Given the description of an element on the screen output the (x, y) to click on. 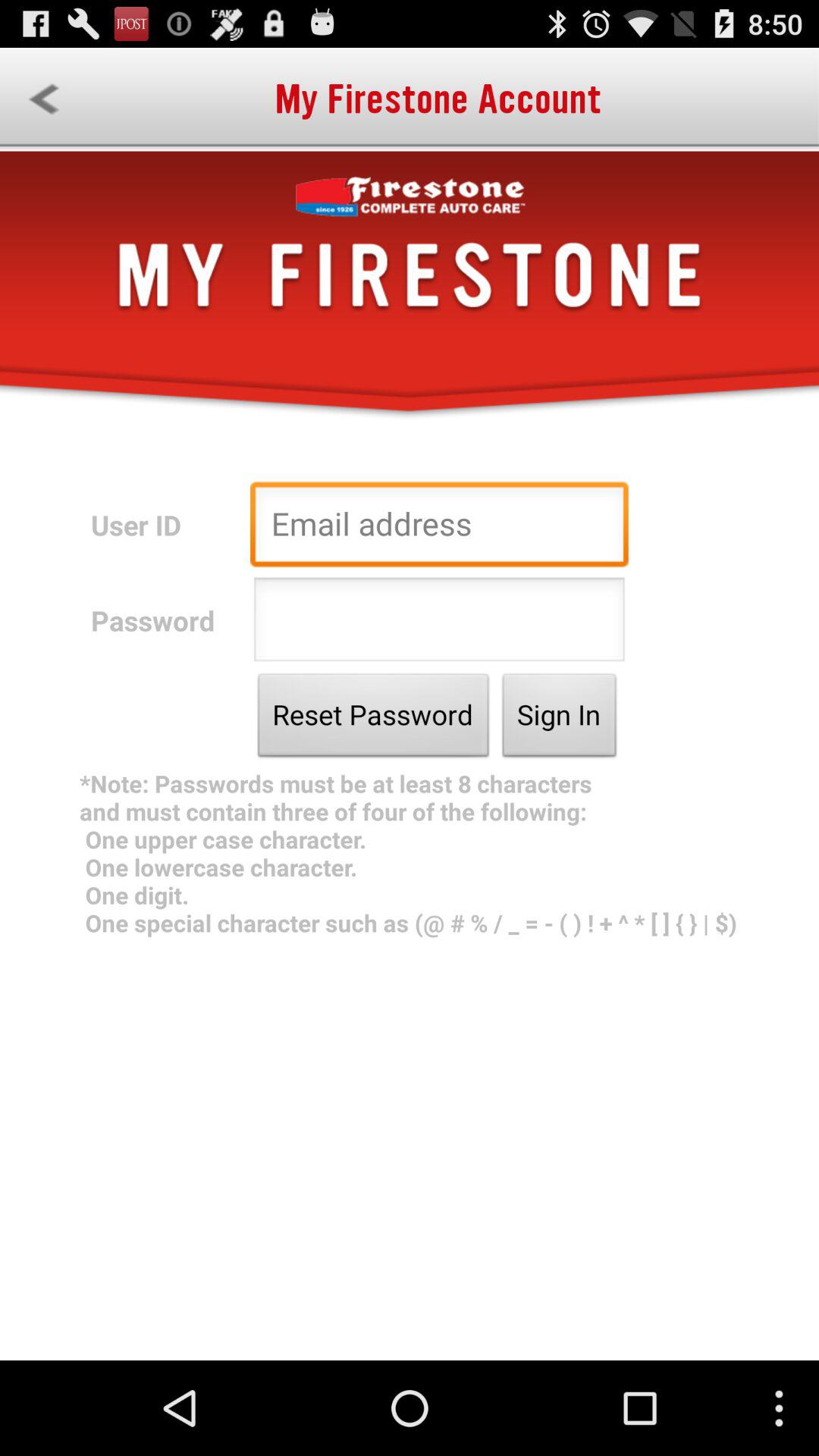
press the reset password icon (373, 719)
